Given the description of an element on the screen output the (x, y) to click on. 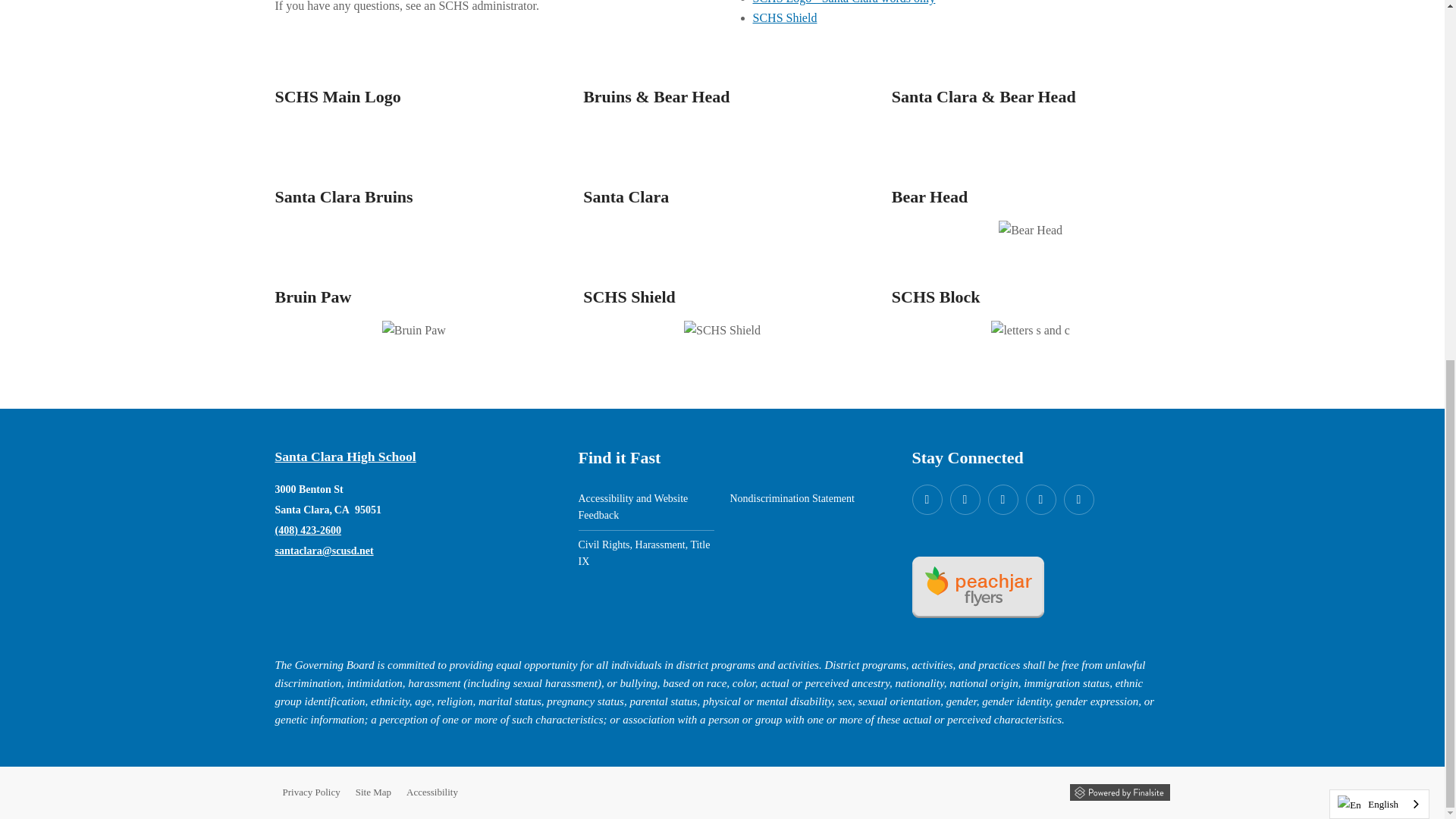
Powered by Finalsite opens in a new window (1118, 791)
Email (323, 550)
